Given the description of an element on the screen output the (x, y) to click on. 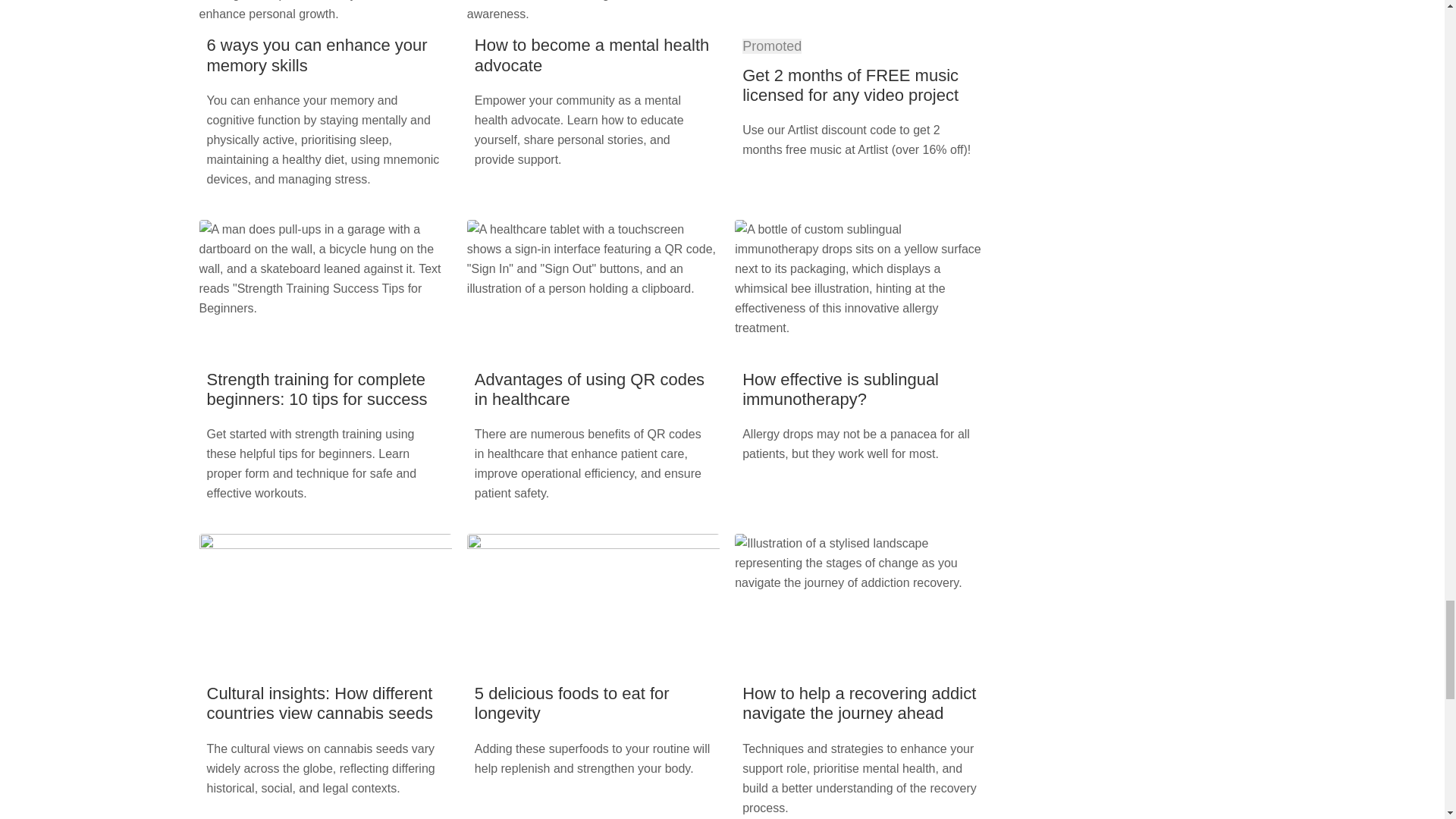
How to become a mental health advocate (591, 55)
6 ways you can enhance your memory skills (316, 55)
Promoted (772, 46)
Advantages of using QR codes in healthcare (589, 389)
Get 2 months of FREE music licensed for any video project (850, 85)
